Given the description of an element on the screen output the (x, y) to click on. 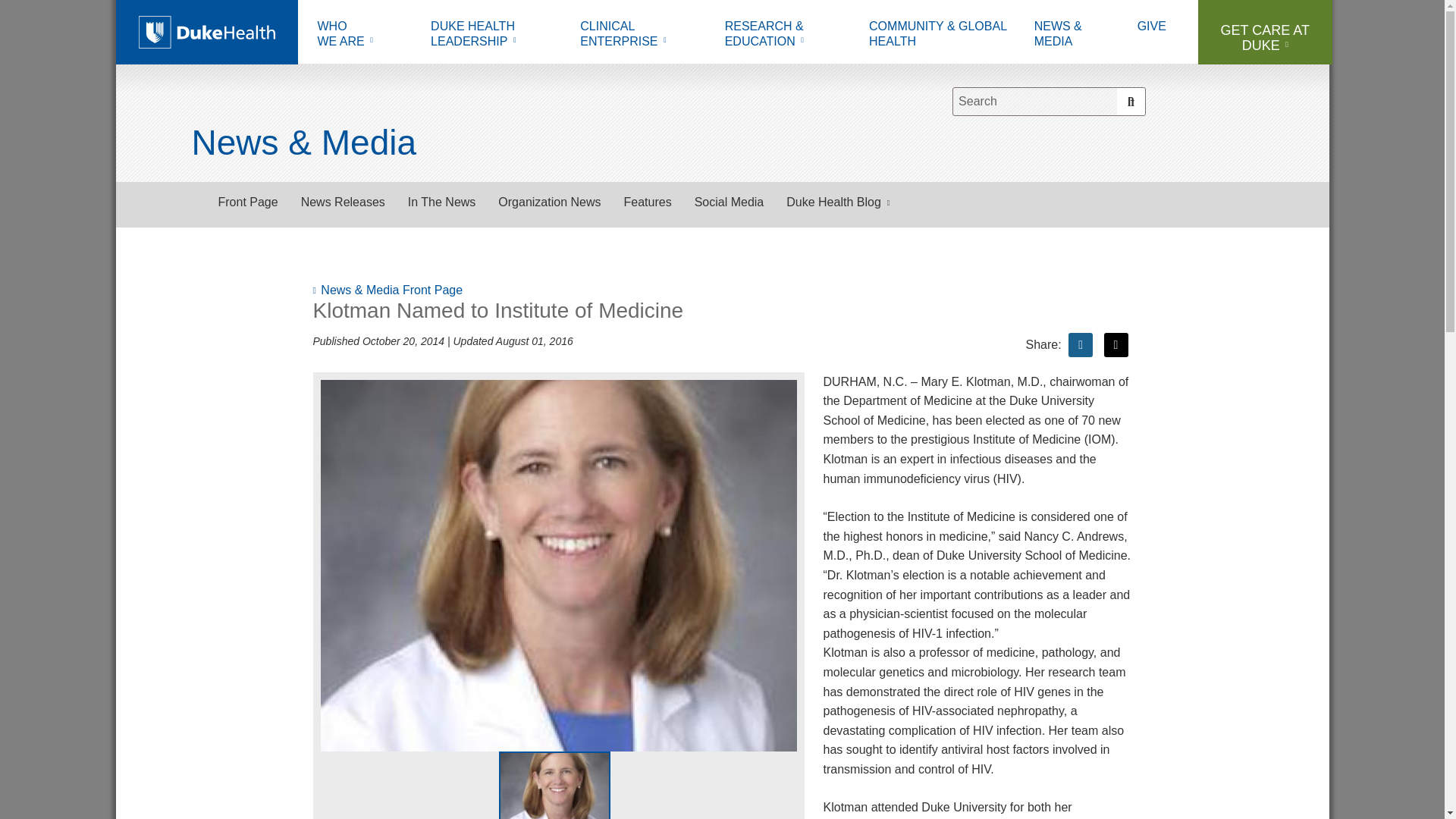
CLINICAL ENTERPRISE (362, 35)
DUKE HEALTH LEADERSHIP (641, 35)
